Given the description of an element on the screen output the (x, y) to click on. 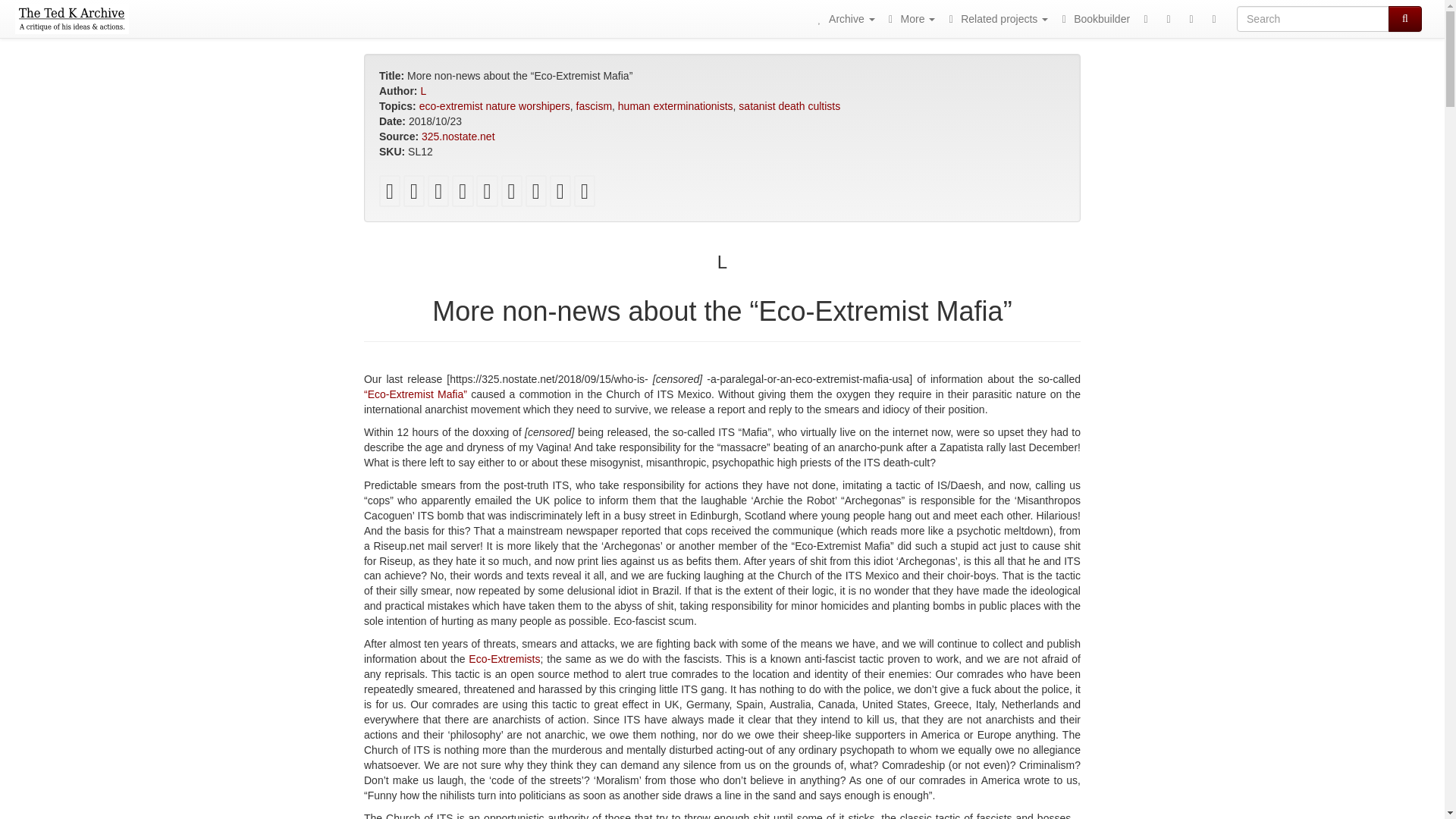
Bookbuilder (1093, 18)
Related projects (995, 18)
More (909, 18)
Related projects (995, 18)
about, links... (909, 18)
Search (1405, 18)
Bookbuilder (1093, 18)
Archive (843, 18)
texts by authors, title, topic... (843, 18)
The Ted K Archive (71, 18)
